Given the description of an element on the screen output the (x, y) to click on. 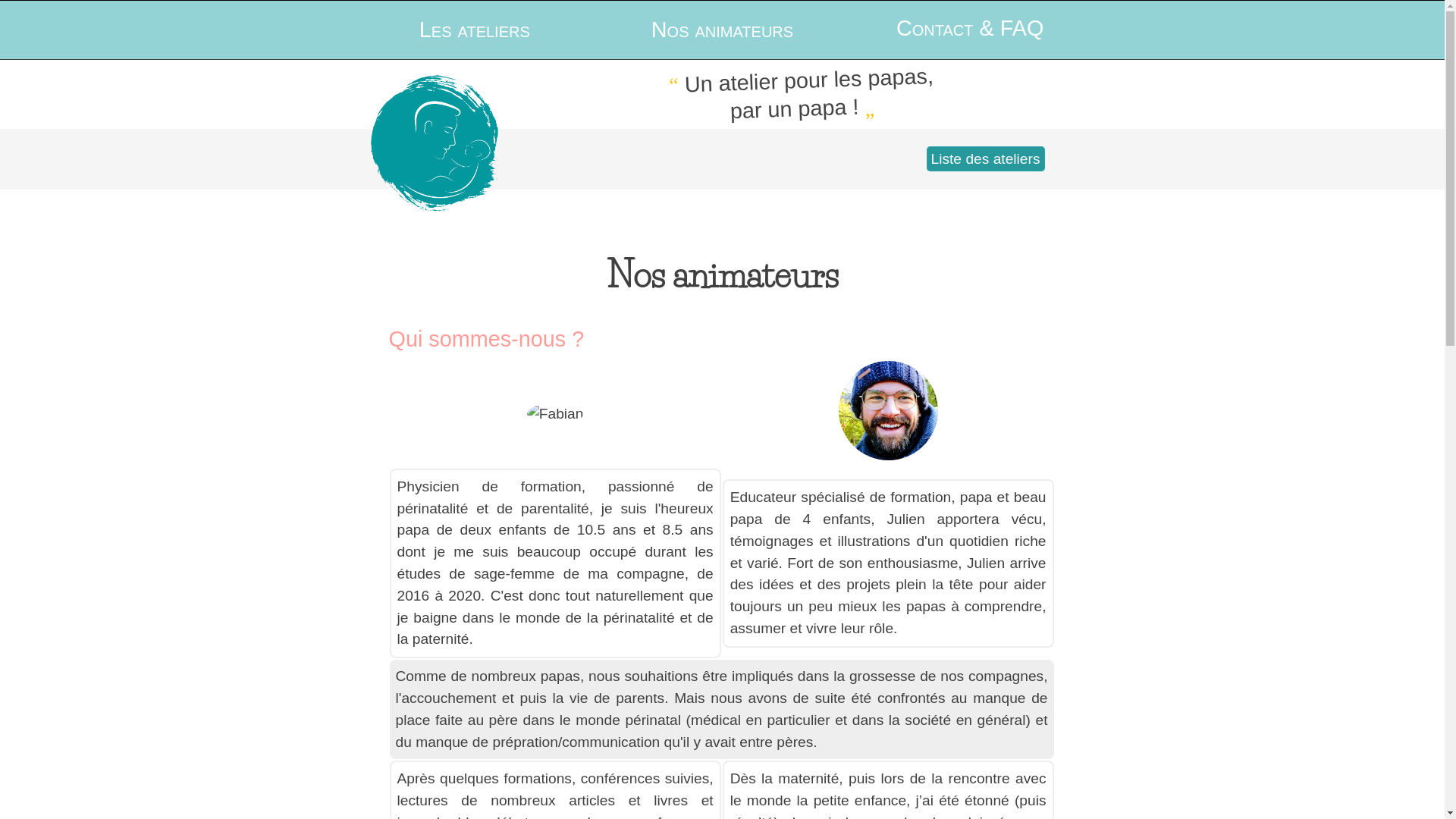
Liste des ateliers Element type: text (985, 158)
Nos animateurs Element type: text (722, 29)
Les ateliers Element type: text (474, 29)
